Given the description of an element on the screen output the (x, y) to click on. 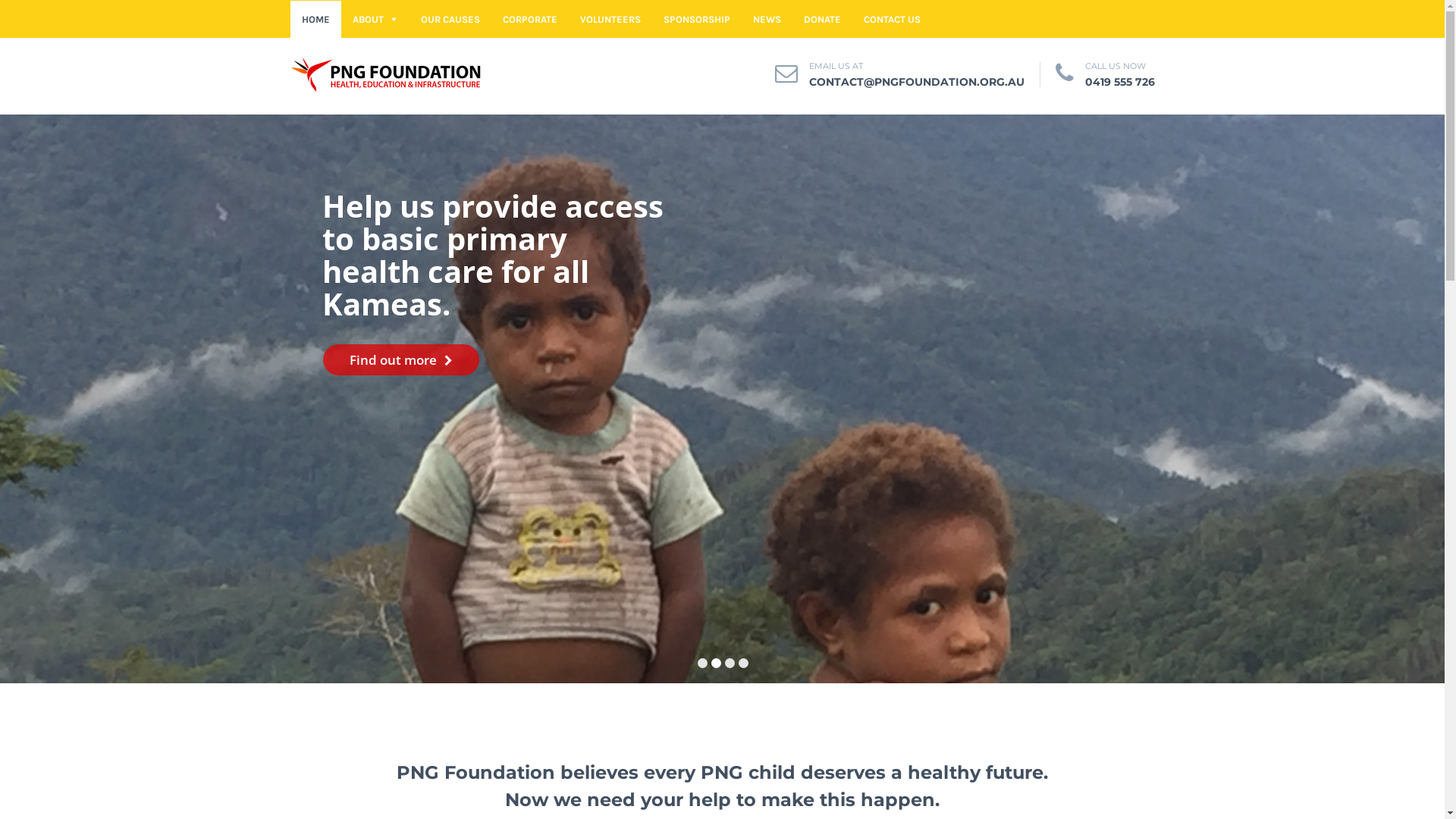
SPONSORSHIP Element type: text (696, 19)
PNG Foundation Element type: hover (386, 72)
CORPORATE Element type: text (529, 19)
VOLUNTEERS Element type: text (610, 19)
HOME Element type: text (314, 19)
CONTACT US Element type: text (891, 19)
DONATE Element type: text (821, 19)
OUR CAUSES Element type: text (450, 19)
CONTACT@PNGFOUNDATION.ORG.AU Element type: text (915, 81)
ABOUT Element type: text (375, 19)
NEWS Element type: text (766, 19)
